Given the description of an element on the screen output the (x, y) to click on. 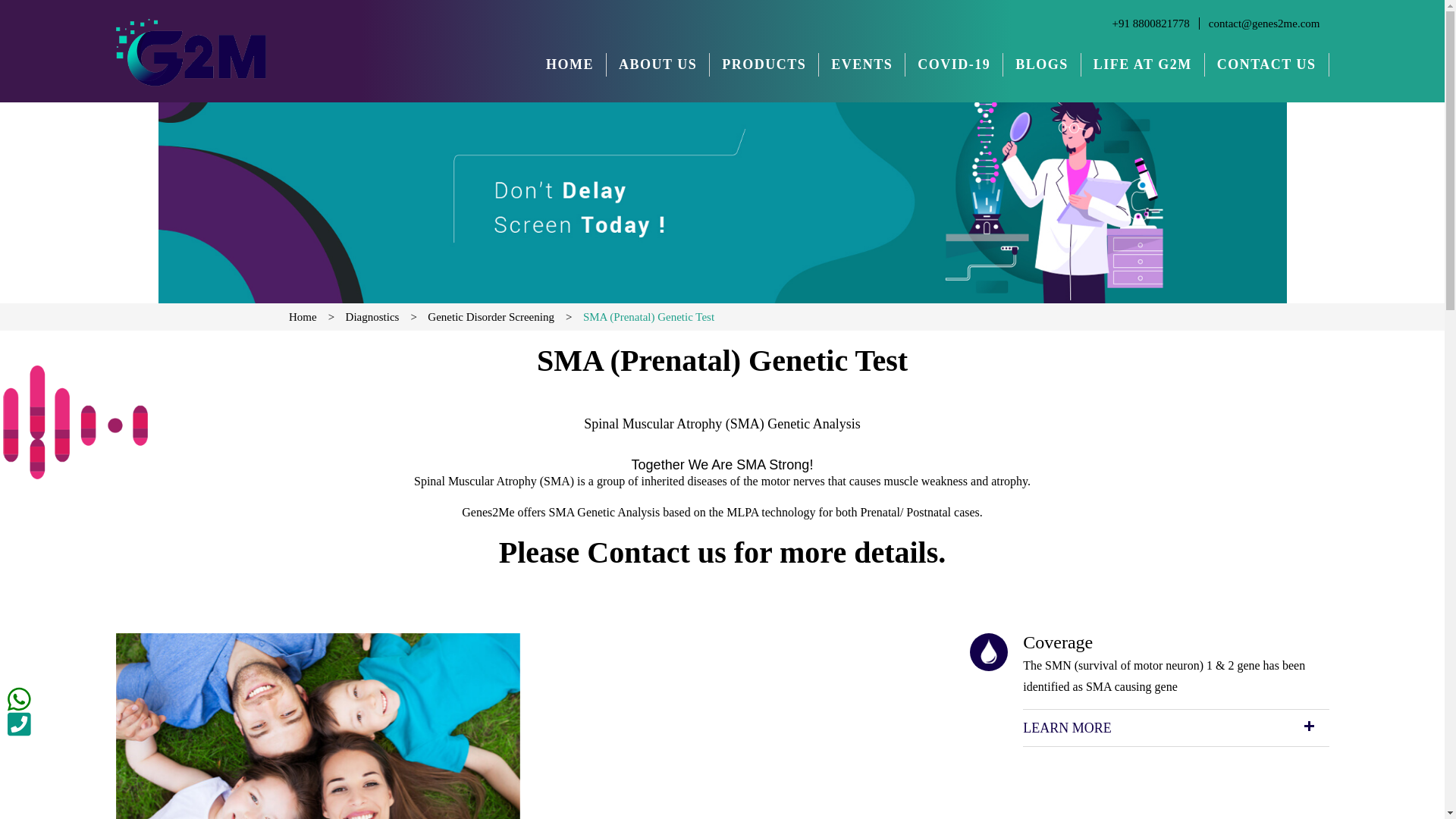
BLOGS (1041, 63)
LIFE AT G2M (1142, 63)
PRODUCTS (764, 63)
COVID-19 (953, 63)
Please Contact us for more details. (722, 552)
CONTACT US (1266, 63)
Genetic Analysis (813, 423)
Genetic Disorder Screening (503, 316)
Home (315, 316)
EVENTS (861, 63)
Diagnostics (385, 316)
HOME (570, 63)
ABOUT US (657, 63)
